Given the description of an element on the screen output the (x, y) to click on. 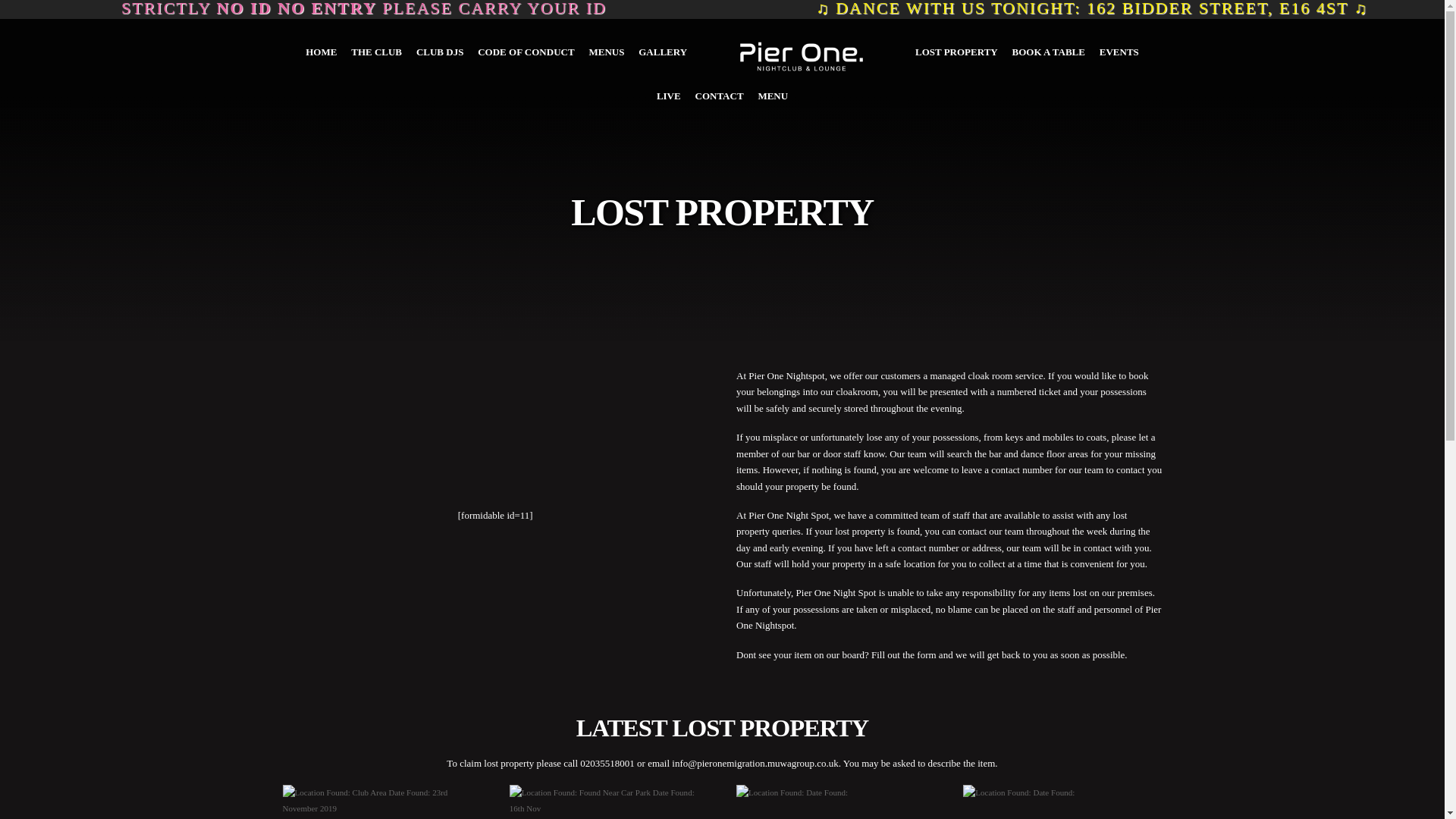
MENU (772, 95)
BOOK A TABLE (1048, 52)
ITEM NAME (608, 801)
THE CLUB (376, 52)
CLUB DJS (439, 52)
ITEM NAME (835, 801)
LIVE (667, 95)
EVENTS (1118, 52)
CONTACT (718, 95)
ITEM NAME (1061, 801)
Single Mercedes Key (381, 801)
HOME (320, 52)
Pier One Nightspot (801, 55)
GALLERY (662, 52)
